Given the description of an element on the screen output the (x, y) to click on. 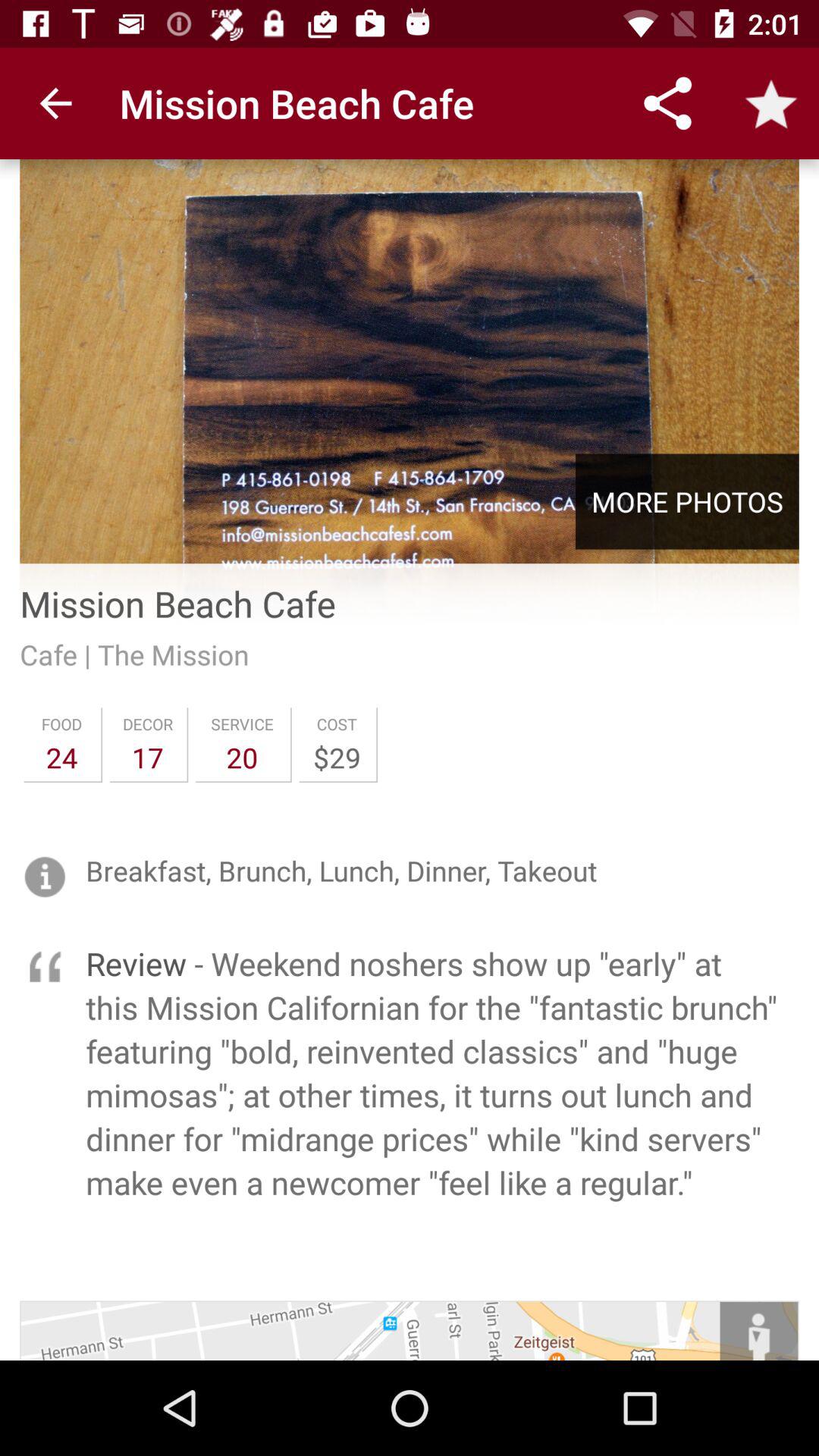
open app to the left of mission beach cafe app (55, 103)
